Given the description of an element on the screen output the (x, y) to click on. 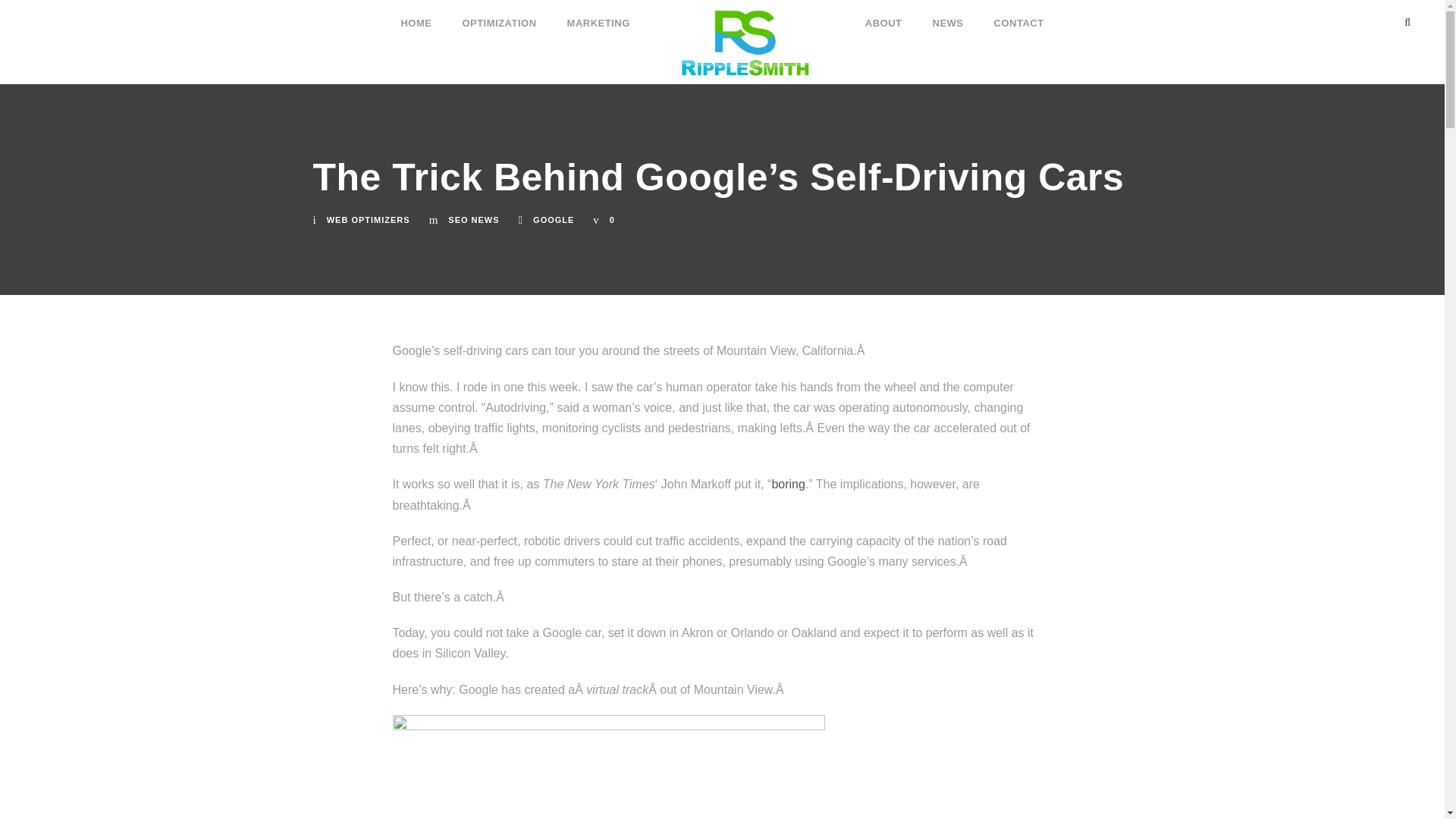
HOME (415, 15)
RippleSmith Services (747, 42)
NEWS (948, 15)
boring (788, 483)
OPTIMIZATION (498, 15)
Posts by Web Optimizers (368, 219)
ABOUT (883, 15)
GOOGLE (552, 219)
WEB OPTIMIZERS (368, 219)
SEO NEWS (473, 219)
